Given the description of an element on the screen output the (x, y) to click on. 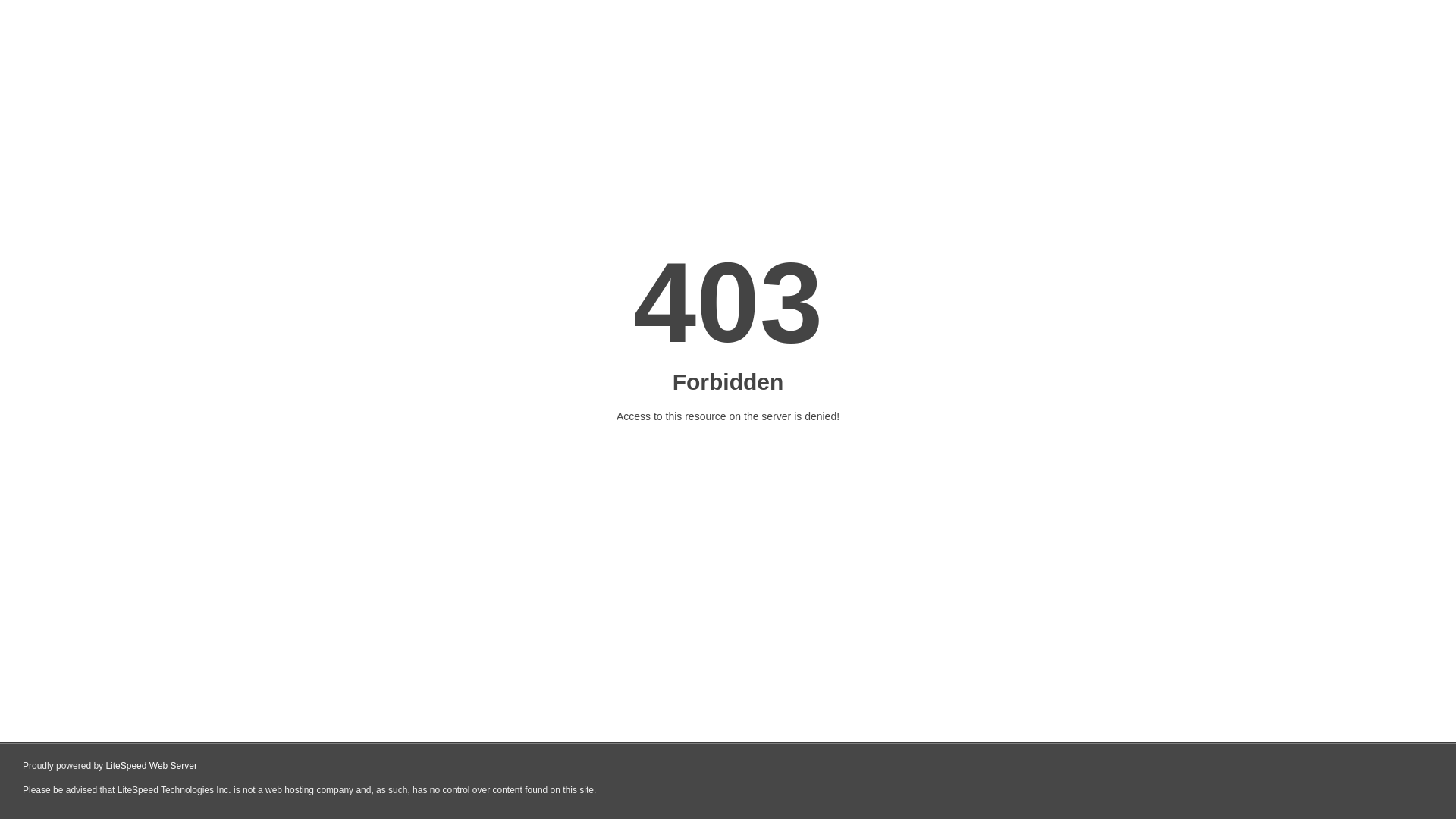
LiteSpeed Web Server Element type: text (151, 765)
